Given the description of an element on the screen output the (x, y) to click on. 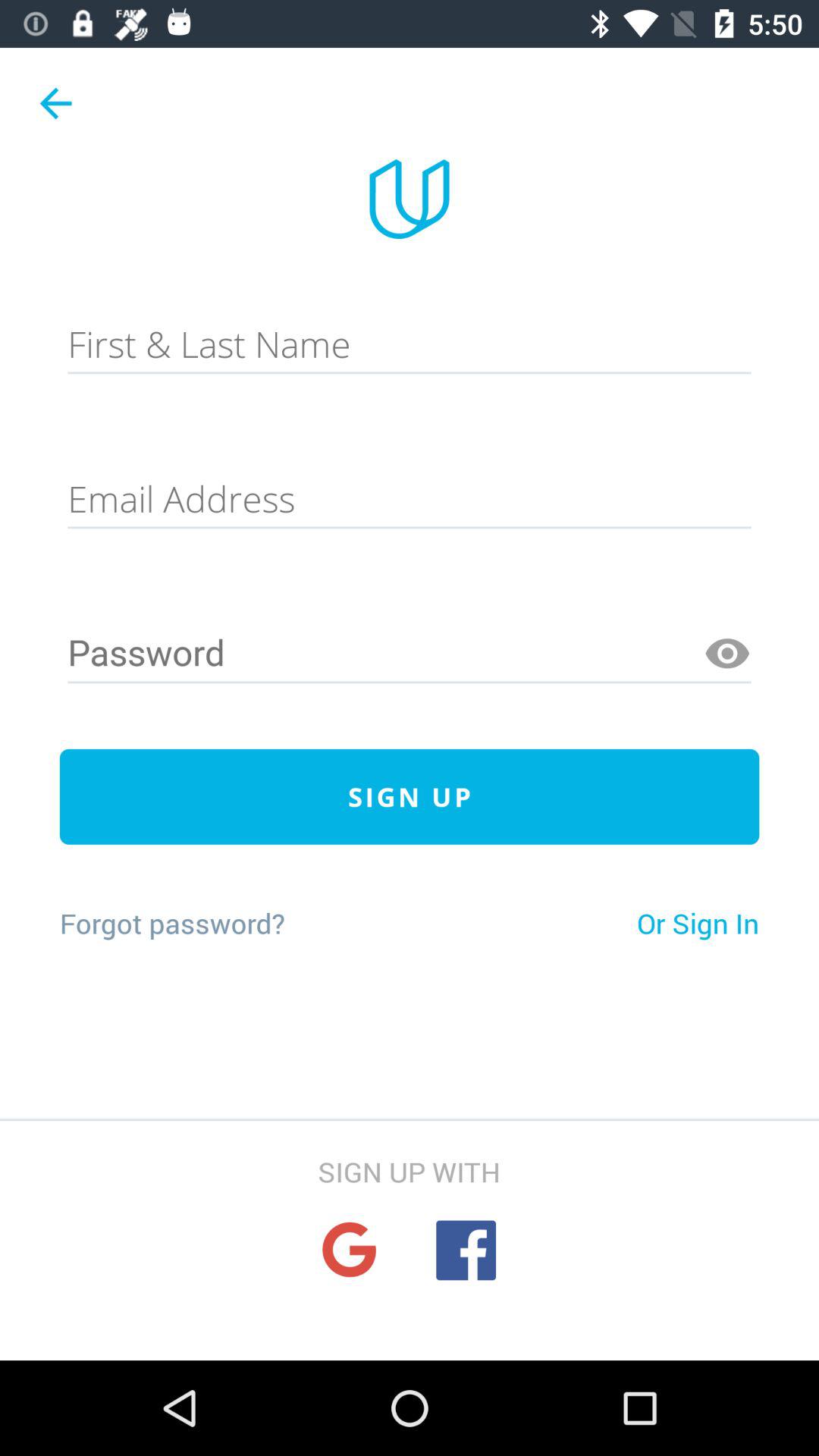
google sign-up option (348, 1249)
